Given the description of an element on the screen output the (x, y) to click on. 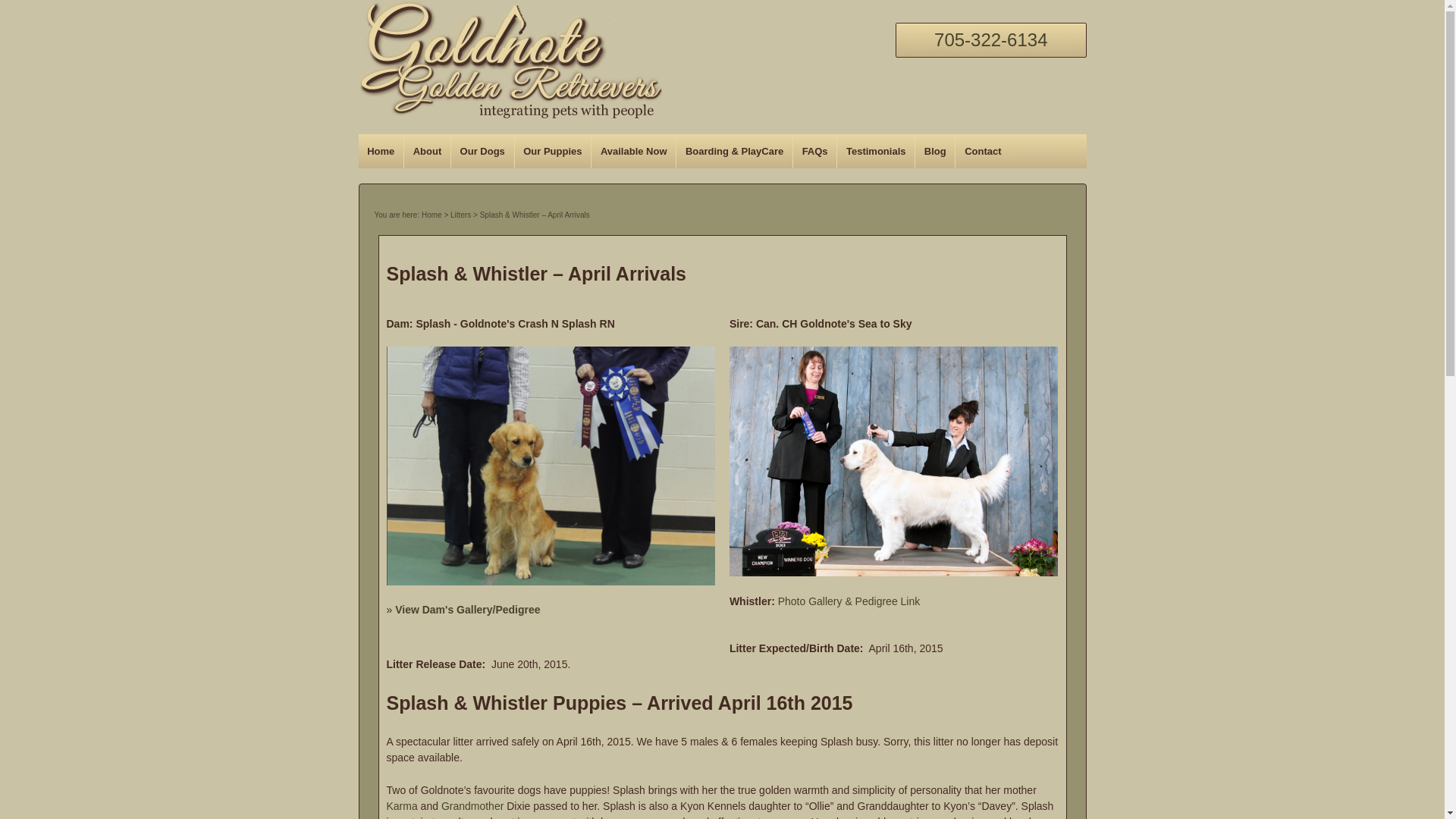
Karma (402, 806)
Blog (934, 151)
Home (432, 214)
Sire Can. CH Goldnote's Sea to Sky (893, 461)
Grandmother (472, 806)
705-322-6134 (990, 39)
Dam Splash - Goldnote's Crash N Splash RN (551, 465)
Our Puppies (552, 151)
Home (380, 151)
Contact (982, 151)
Available Now (633, 151)
FAQs (813, 151)
Testimonials (874, 151)
About (426, 151)
Litters (459, 214)
